Given the description of an element on the screen output the (x, y) to click on. 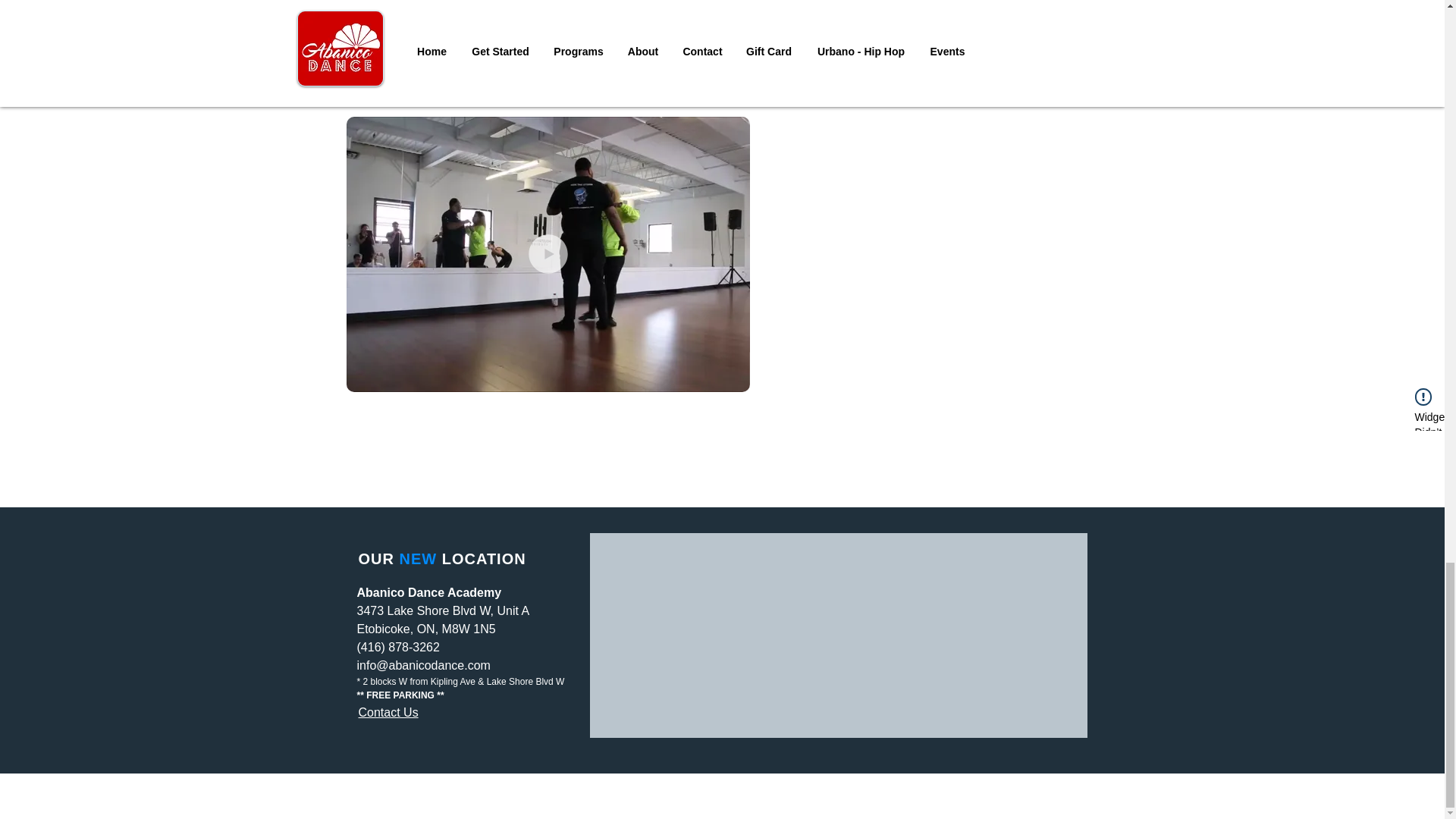
Google Maps (837, 635)
Contact Us (387, 712)
